Given the description of an element on the screen output the (x, y) to click on. 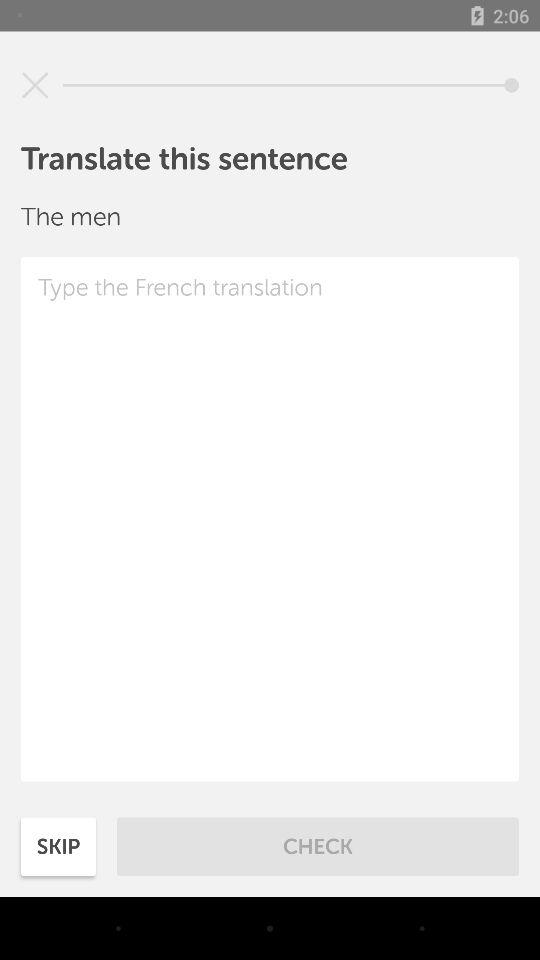
select icon to the right of skip item (318, 846)
